Given the description of an element on the screen output the (x, y) to click on. 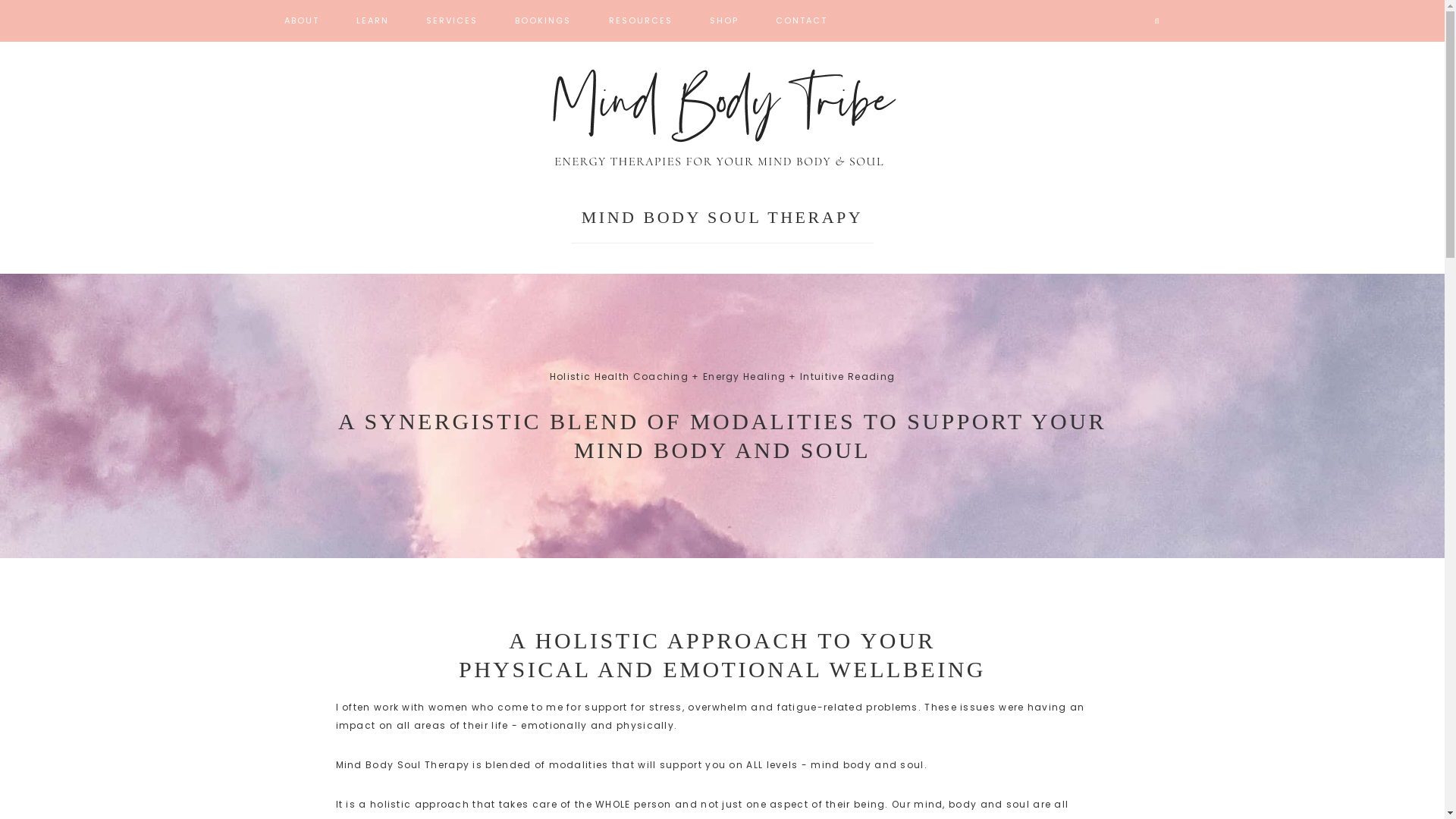
LEARN Element type: text (372, 20)
ABOUT Element type: text (300, 20)
RESOURCES Element type: text (640, 20)
SERVICES Element type: text (451, 20)
SHOP Element type: text (724, 20)
CONTACT Element type: text (801, 20)
BOOKINGS Element type: text (542, 20)
MIND BODY TRIBE Element type: text (721, 115)
